Given the description of an element on the screen output the (x, y) to click on. 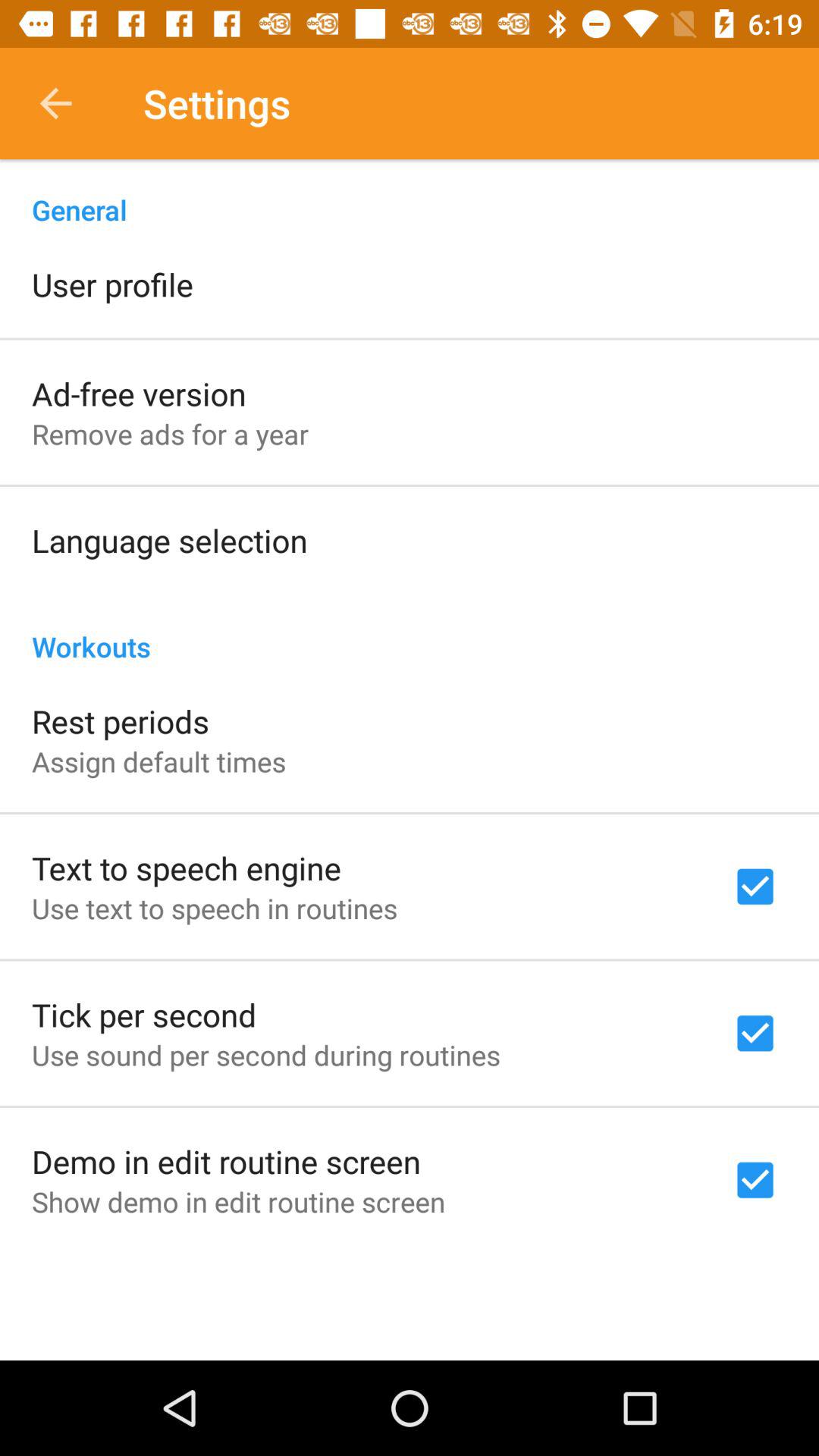
tap icon above the general item (55, 103)
